Given the description of an element on the screen output the (x, y) to click on. 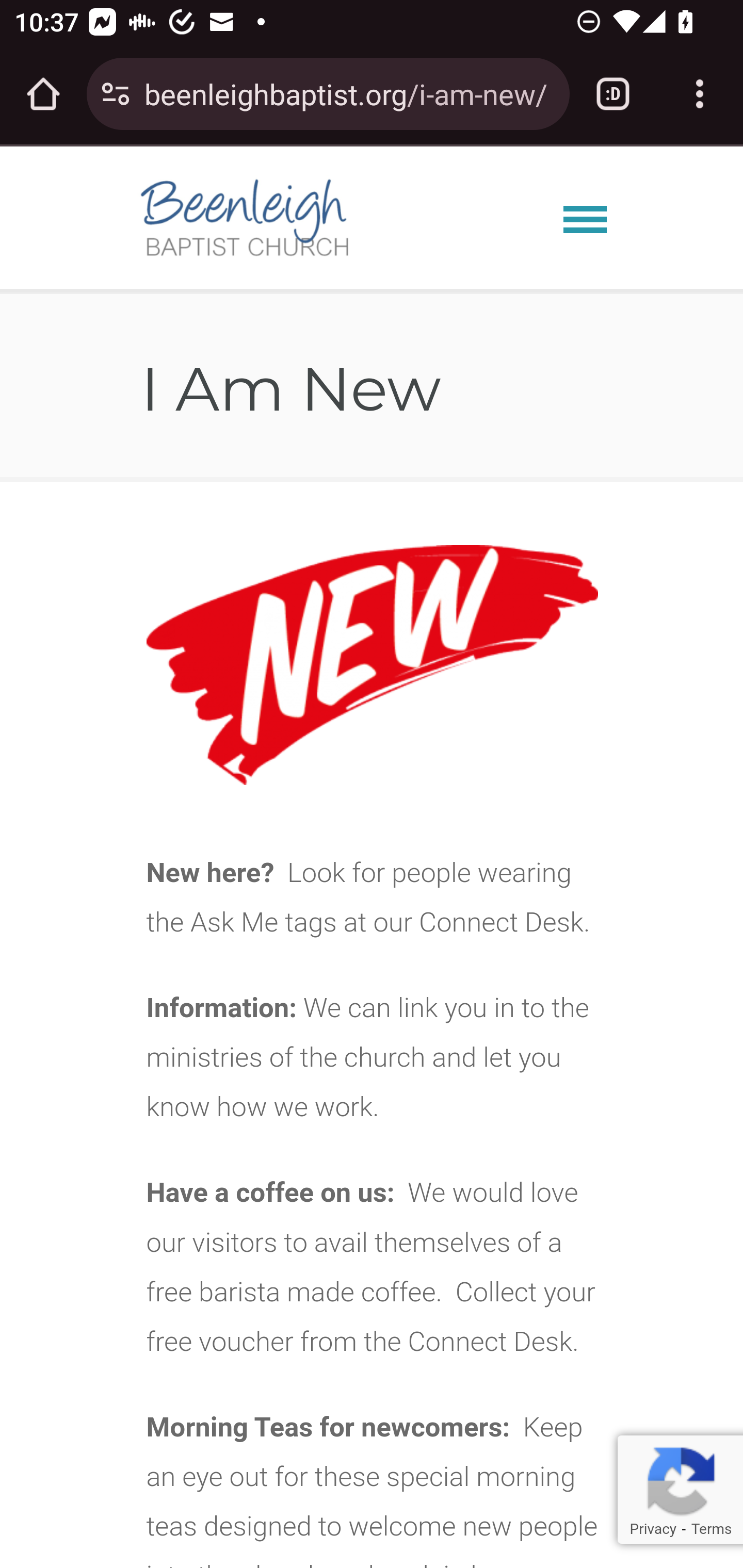
Open the home page (43, 93)
Connection is secure (115, 93)
Switch or close tabs (612, 93)
Customize and control Google Chrome (699, 93)
beenleighbaptist.org/i-am-new/ (349, 92)
beenleighbaptist (372, 217)
logo (246, 218)
Privacy (652, 1528)
Terms (711, 1528)
